Given the description of an element on the screen output the (x, y) to click on. 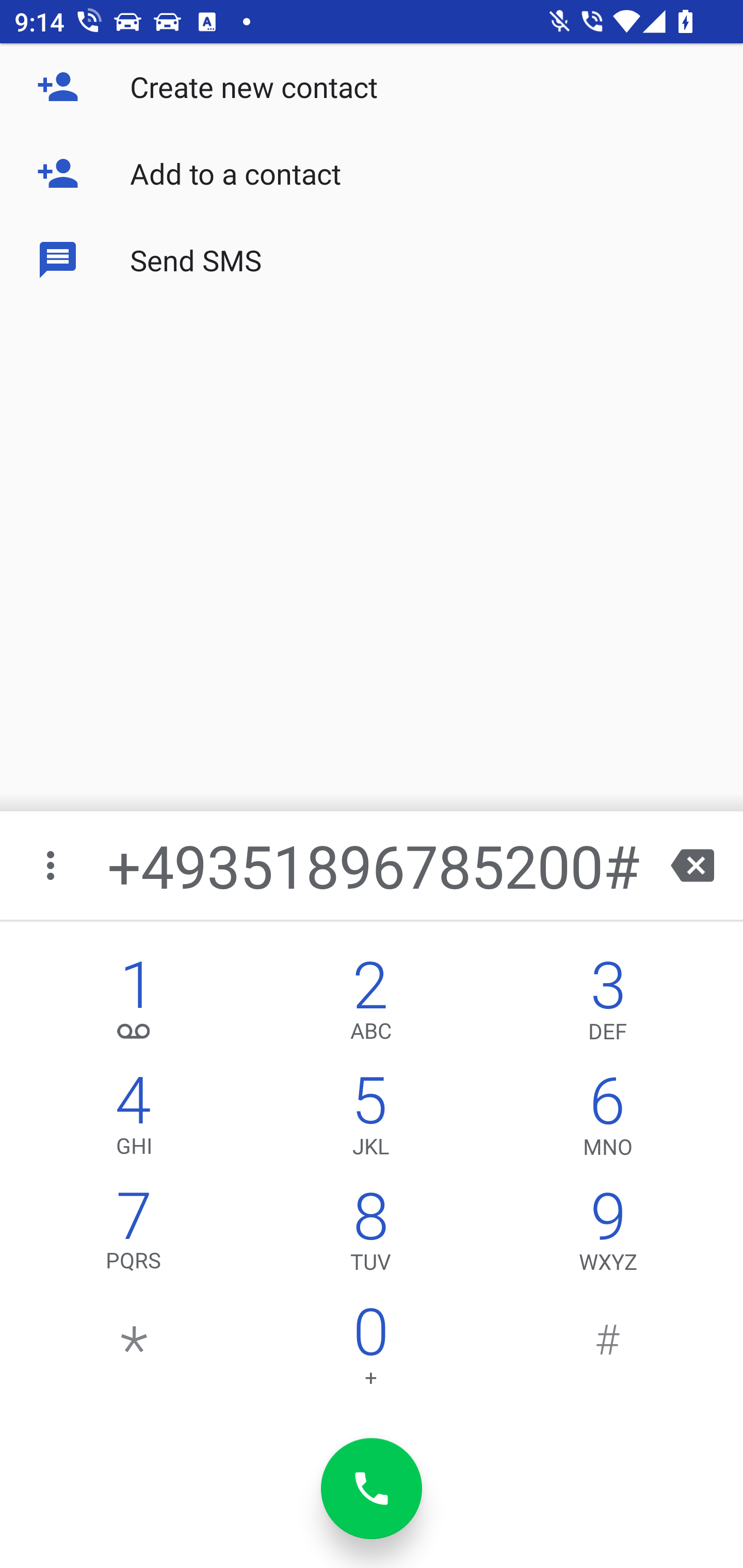
Create new contact (371, 86)
Add to a contact (371, 173)
Send SMS (371, 259)
+49351896785200# (372, 865)
backspace (692, 865)
More options (52, 865)
1, 1 (133, 1005)
2,ABC 2 ABC (370, 1005)
3,DEF 3 DEF (607, 1005)
4,GHI 4 GHI (133, 1120)
5,JKL 5 JKL (370, 1120)
6,MNO 6 MNO (607, 1120)
7,PQRS 7 PQRS (133, 1235)
8,TUV 8 TUV (370, 1235)
9,WXYZ 9 WXYZ (607, 1235)
* (133, 1351)
0 0 + (370, 1351)
# (607, 1351)
dial (371, 1488)
